Given the description of an element on the screen output the (x, y) to click on. 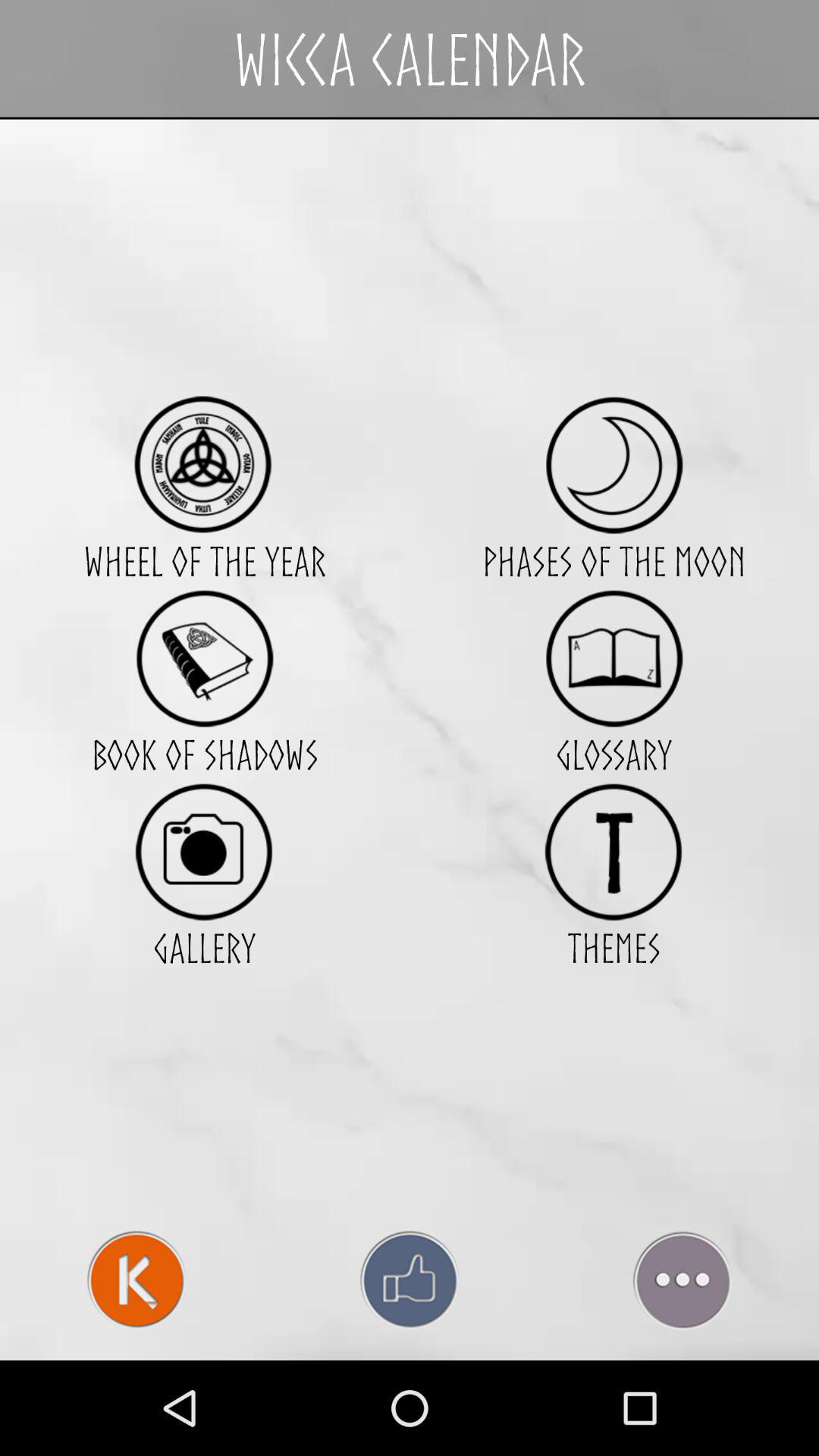
click the app next to phases of the icon (204, 464)
